Given the description of an element on the screen output the (x, y) to click on. 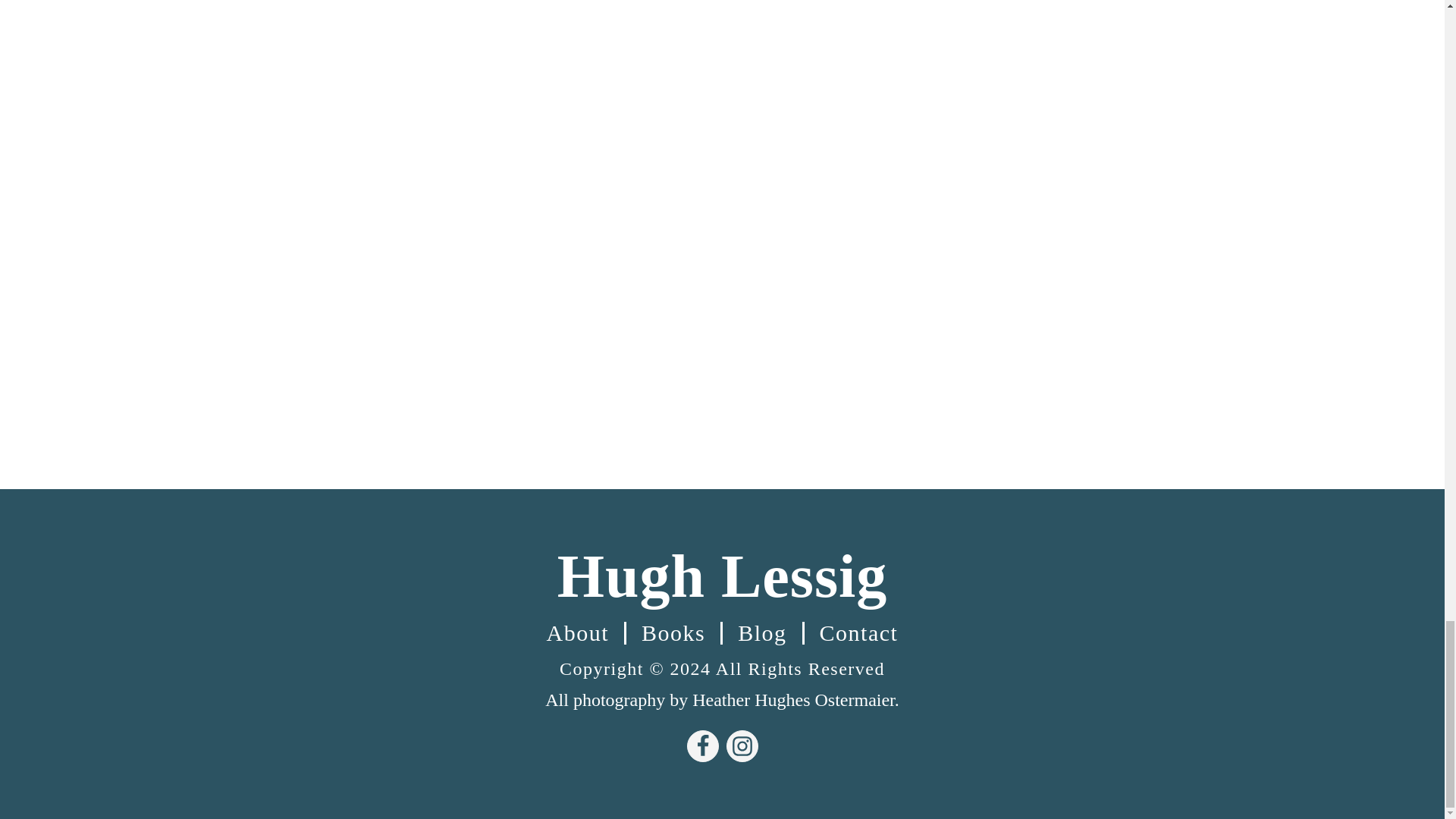
All photography by Heather Hughes Ostermaier. (721, 699)
Contact (859, 632)
Books (673, 632)
About (577, 632)
Blog (762, 632)
